Given the description of an element on the screen output the (x, y) to click on. 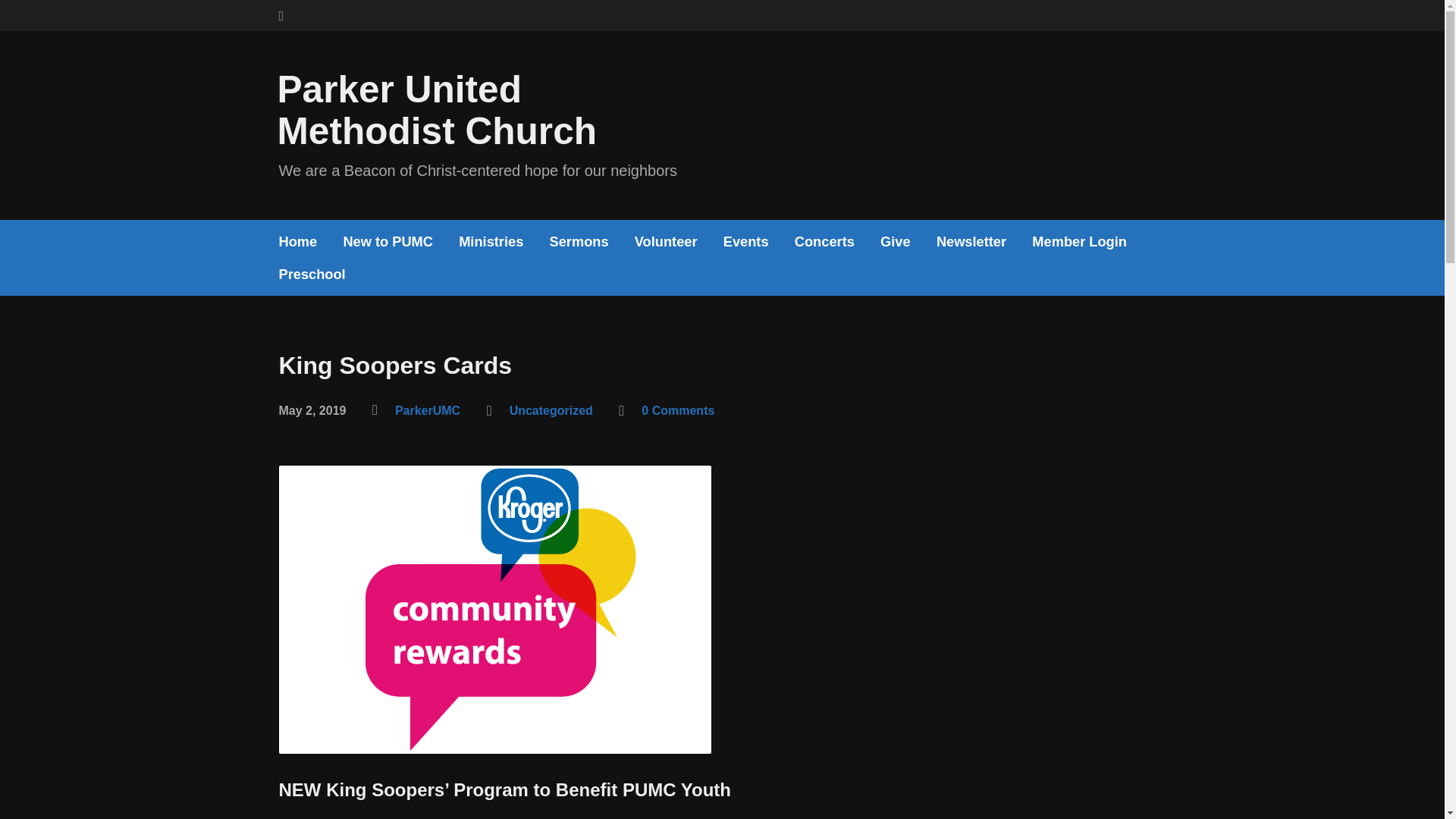
Newsletter (971, 241)
Parker United Methodist Church (437, 109)
Preschool (312, 274)
Volunteer (665, 241)
Home (298, 241)
Member Login (1079, 241)
Give (895, 241)
Sermons (579, 241)
Ministries (490, 241)
New to PUMC (387, 241)
